Given the description of an element on the screen output the (x, y) to click on. 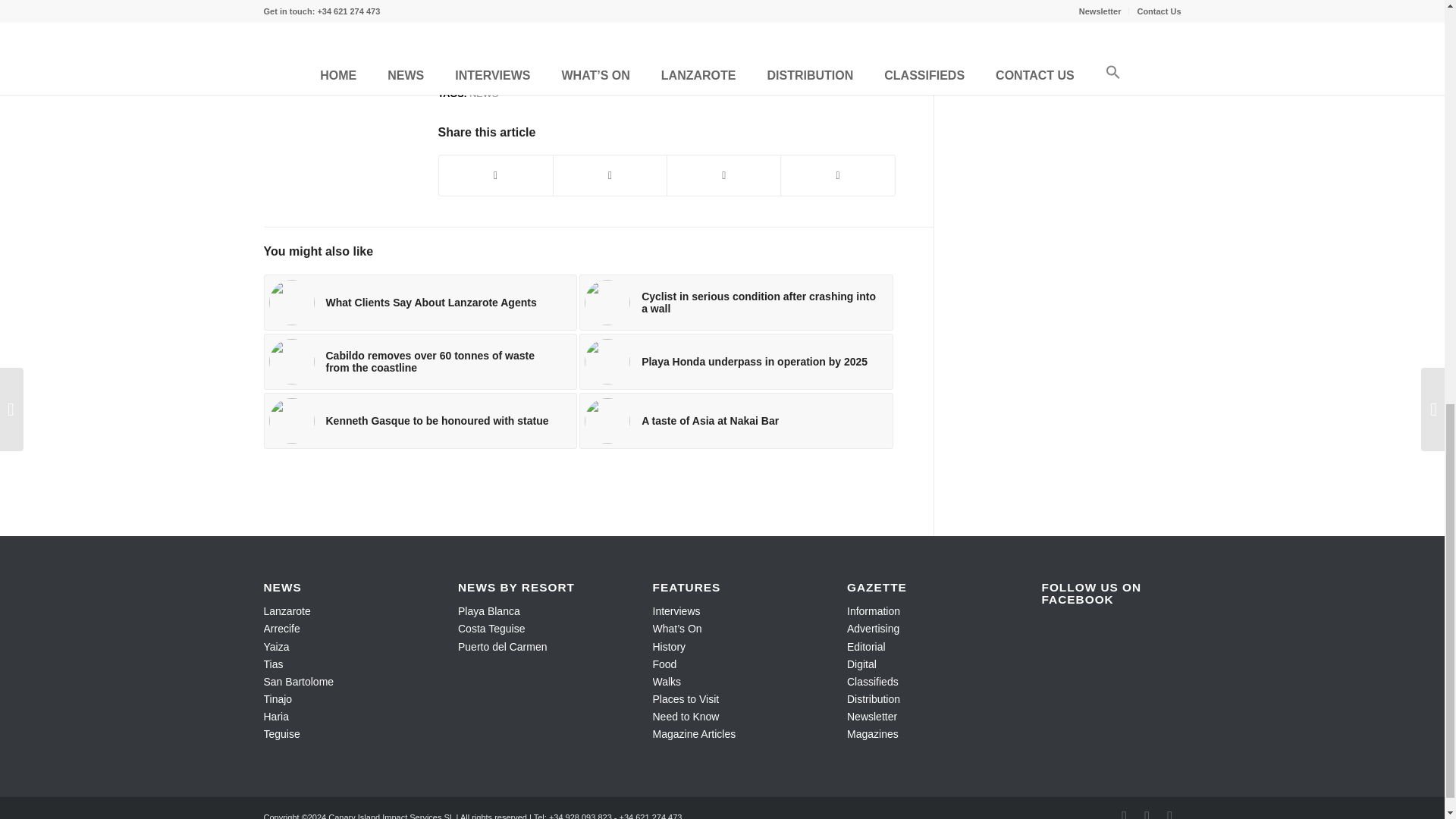
Cyclist in serious condition after crashing into a wall (736, 302)
NEWS (482, 93)
Buying and selling-44-44 (290, 302)
Cyclist in serious condition after crashing into a wall (736, 302)
Playa Honda underpass in operation by 2025 (736, 361)
gazette-life-news-banner-top (666, 29)
Cabildo removes over 60 tonnes of waste from the coastline (420, 361)
What Clients Say About Lanzarote Agents (420, 302)
What Clients Say About Lanzarote Agents (420, 302)
cyclist-in-serious-condition-main (607, 302)
